Given the description of an element on the screen output the (x, y) to click on. 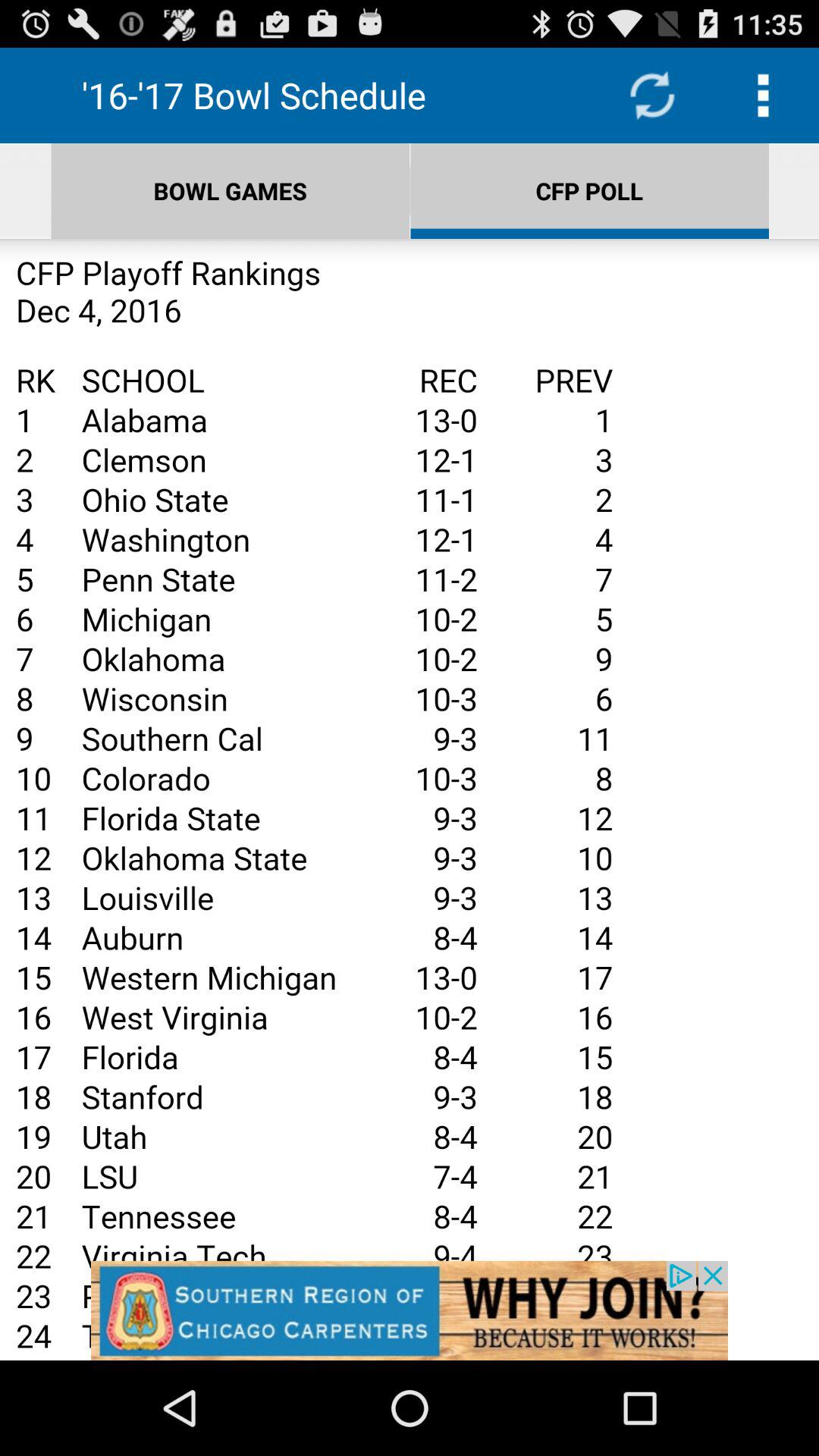
refresh page (651, 95)
